Given the description of an element on the screen output the (x, y) to click on. 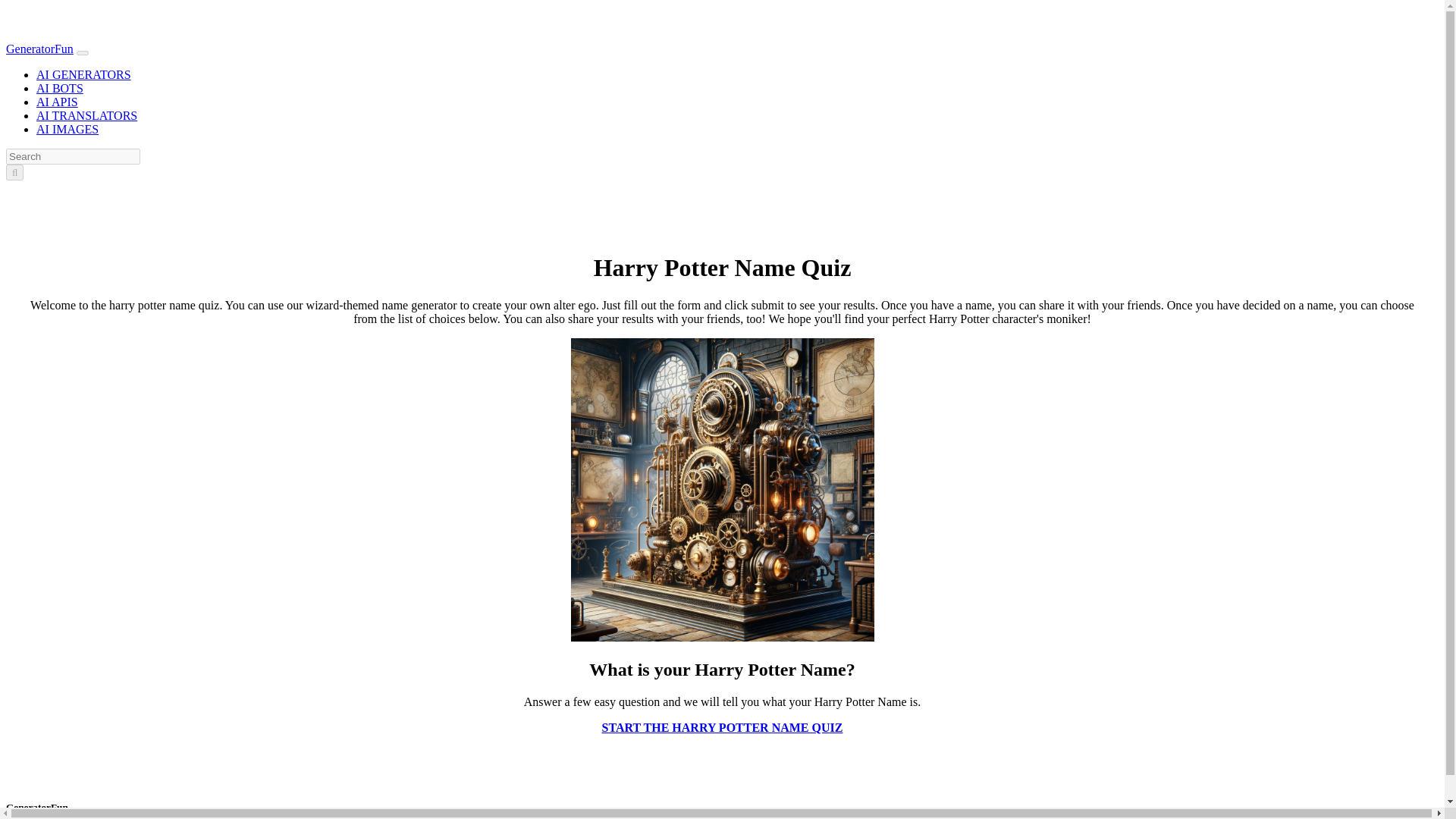
GeneratorFun (39, 48)
AI APIS (57, 101)
Join (90, 190)
AI IMAGES (67, 128)
Login (61, 190)
AI GENERATORS (83, 74)
AI BOTS (59, 88)
START THE HARRY POTTER NAME QUIZ (721, 727)
AI TRANSLATORS (86, 115)
